Given the description of an element on the screen output the (x, y) to click on. 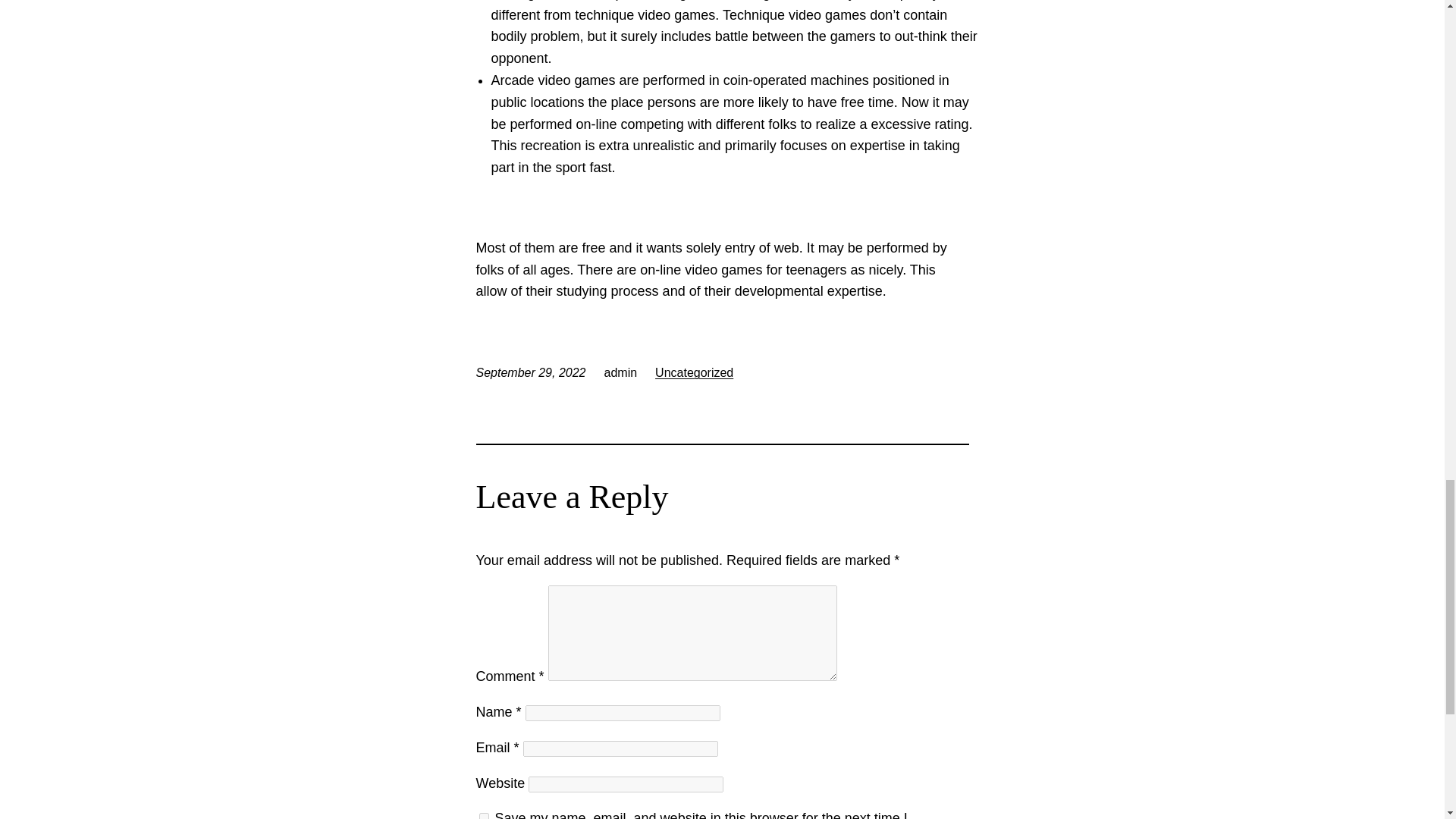
Uncategorized (694, 372)
yes (484, 816)
